Given the description of an element on the screen output the (x, y) to click on. 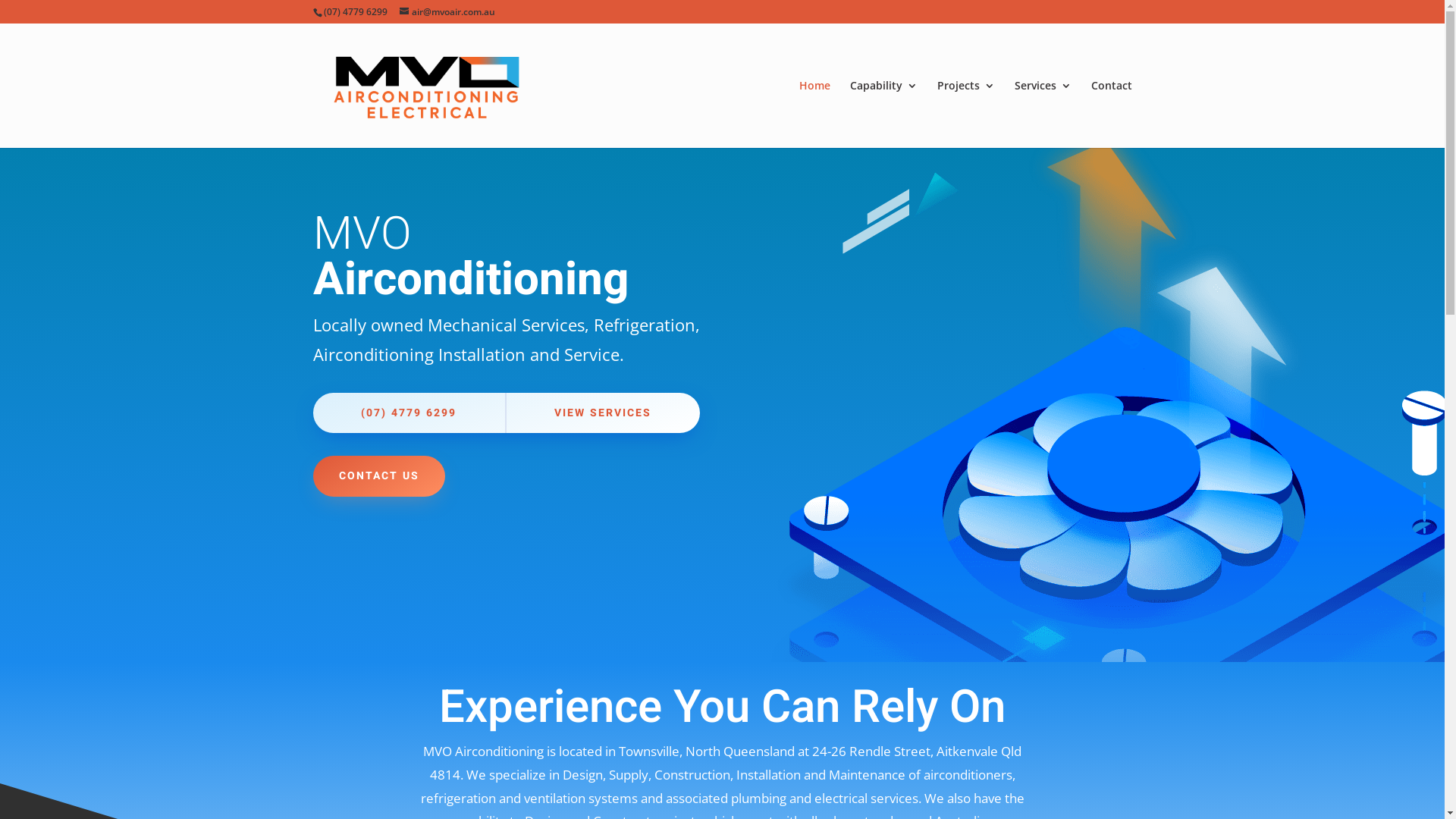
VIEW SERVICES Element type: text (602, 412)
Home Element type: text (814, 113)
Contact Element type: text (1110, 113)
Services Element type: text (1042, 113)
Projects Element type: text (965, 113)
CONTACT US Element type: text (378, 475)
Capability Element type: text (882, 113)
(07) 4779 6299 Element type: text (408, 412)
air@mvoair.com.au Element type: text (446, 11)
